Given the description of an element on the screen output the (x, y) to click on. 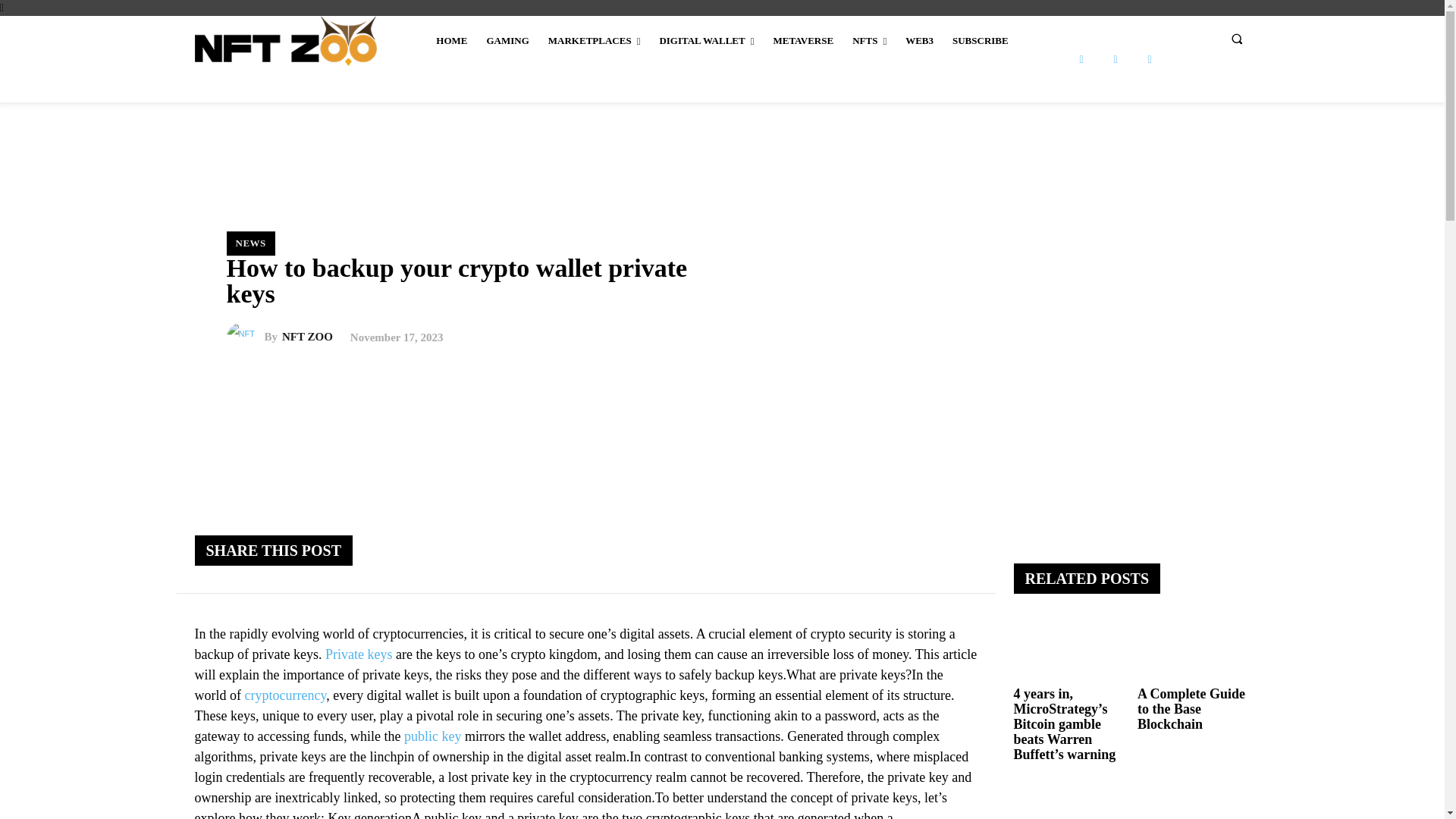
Facebook (1080, 58)
GAMING (507, 40)
HOME (451, 40)
Twitter (1148, 58)
NFT ZOO (244, 337)
MARKETPLACES (593, 40)
Instagram (1115, 58)
